Given the description of an element on the screen output the (x, y) to click on. 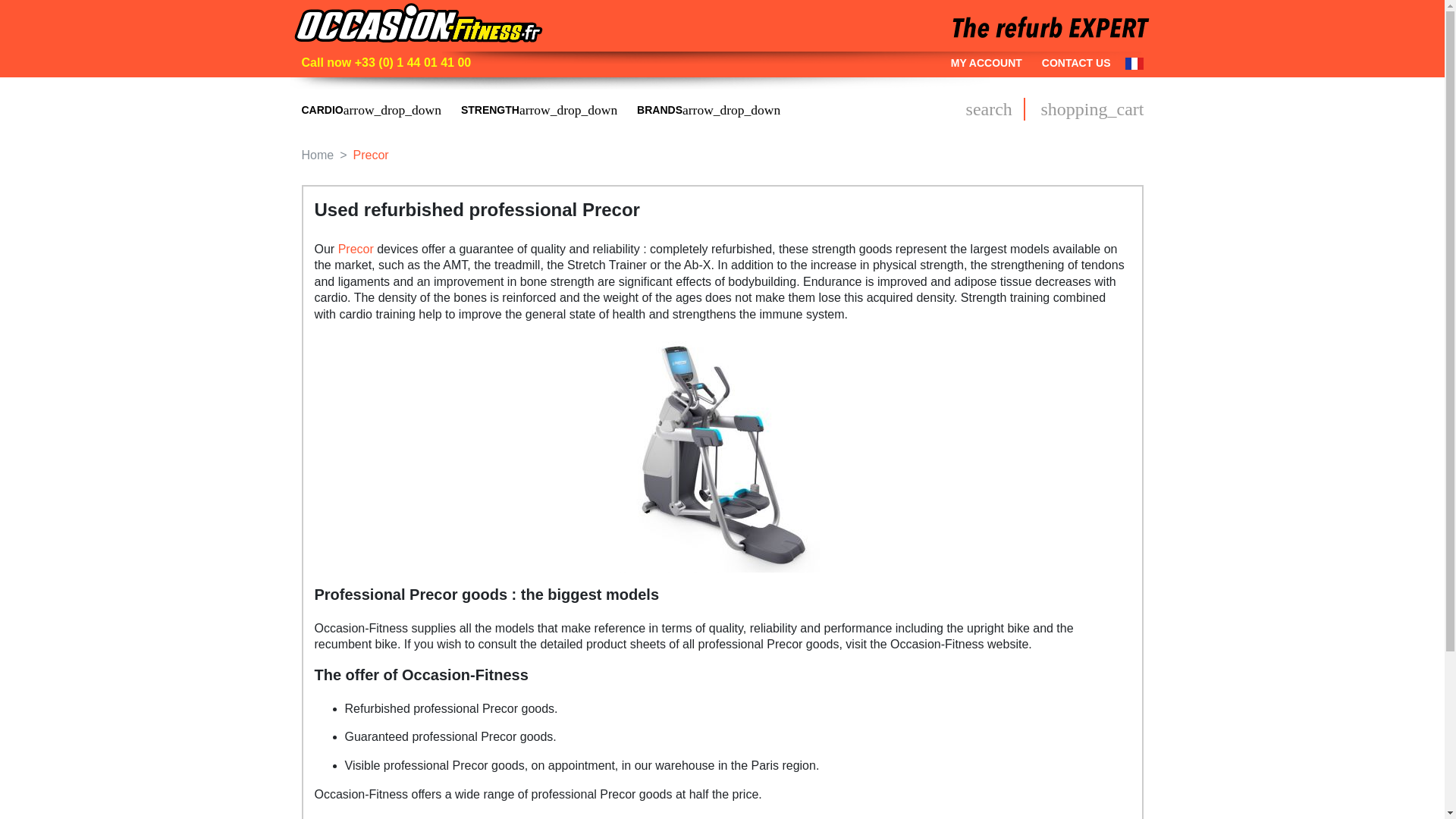
MY ACCOUNT (986, 63)
CONTACT US (1076, 63)
STRENGTH (539, 109)
BRANDS (708, 109)
CARDIO (371, 109)
